Given the description of an element on the screen output the (x, y) to click on. 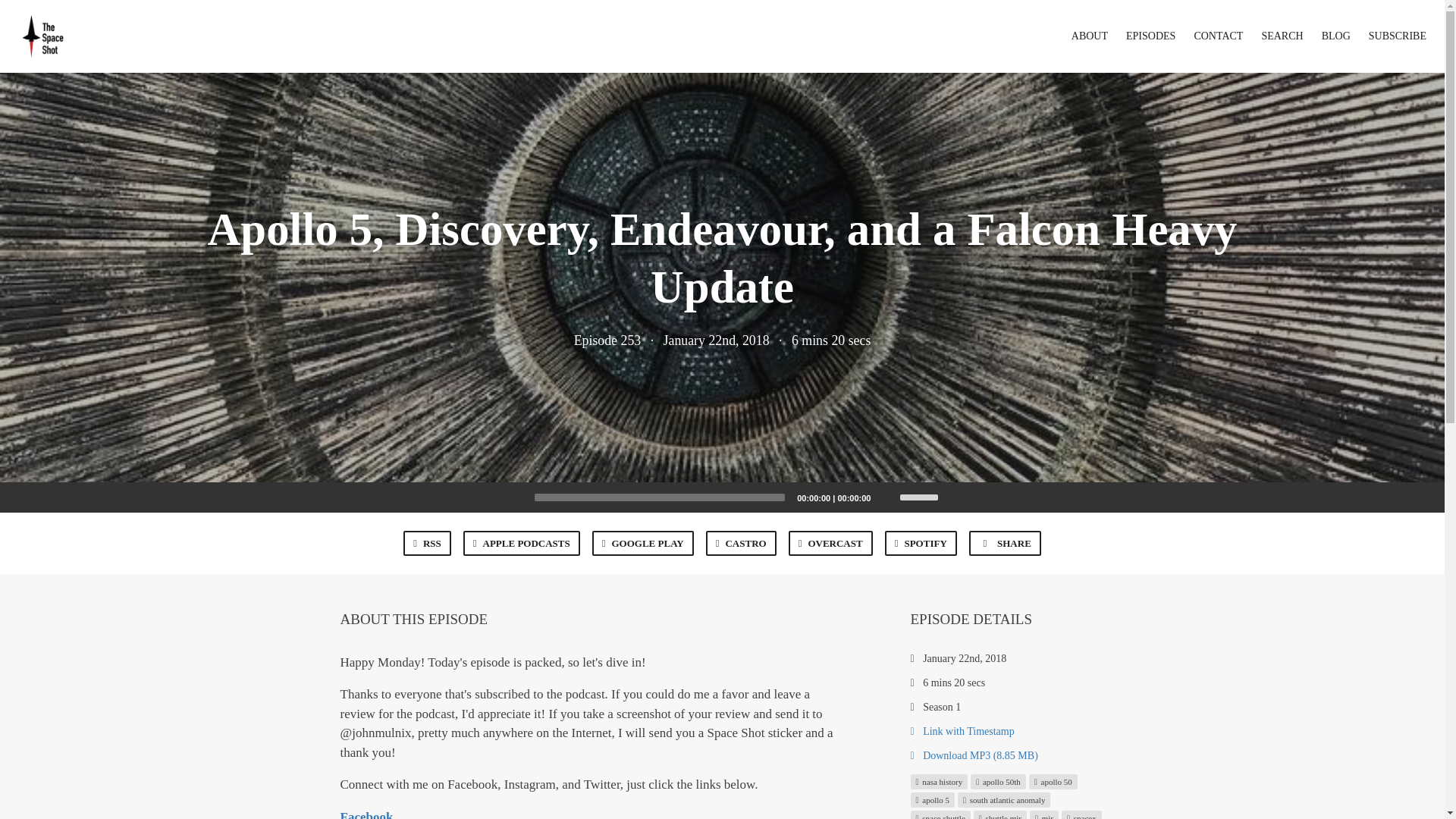
EPISODES (1149, 35)
space shuttle (939, 814)
apollo 50th (998, 780)
Play (513, 497)
SUBSCRIBE (1397, 35)
nasa history (939, 780)
SEARCH (1281, 35)
mir (1043, 814)
shuttle mir (1000, 814)
ABOUT (1089, 35)
